Given the description of an element on the screen output the (x, y) to click on. 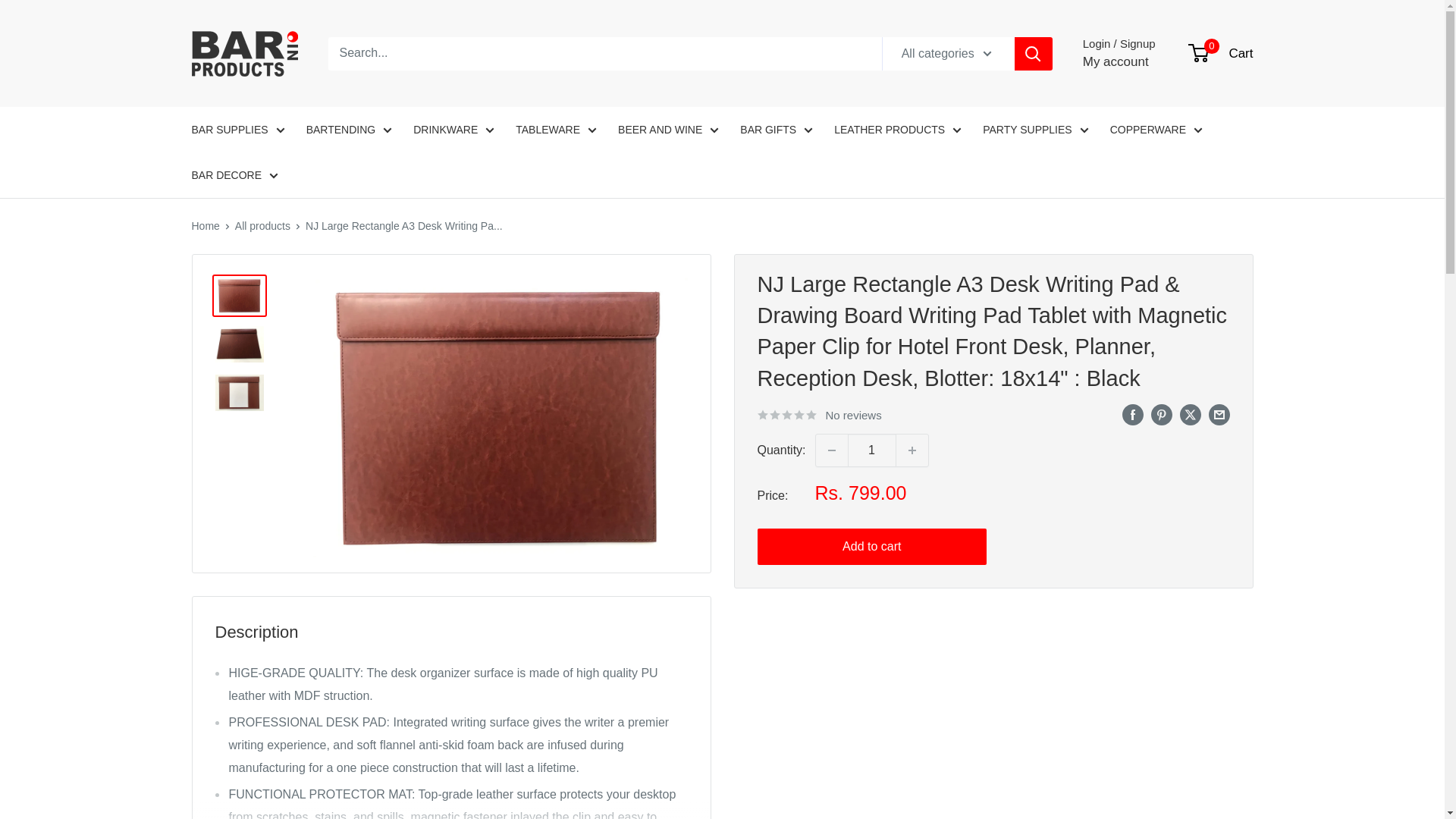
1 (871, 450)
Increase quantity by 1 (912, 450)
Decrease quantity by 1 (831, 450)
